Given the description of an element on the screen output the (x, y) to click on. 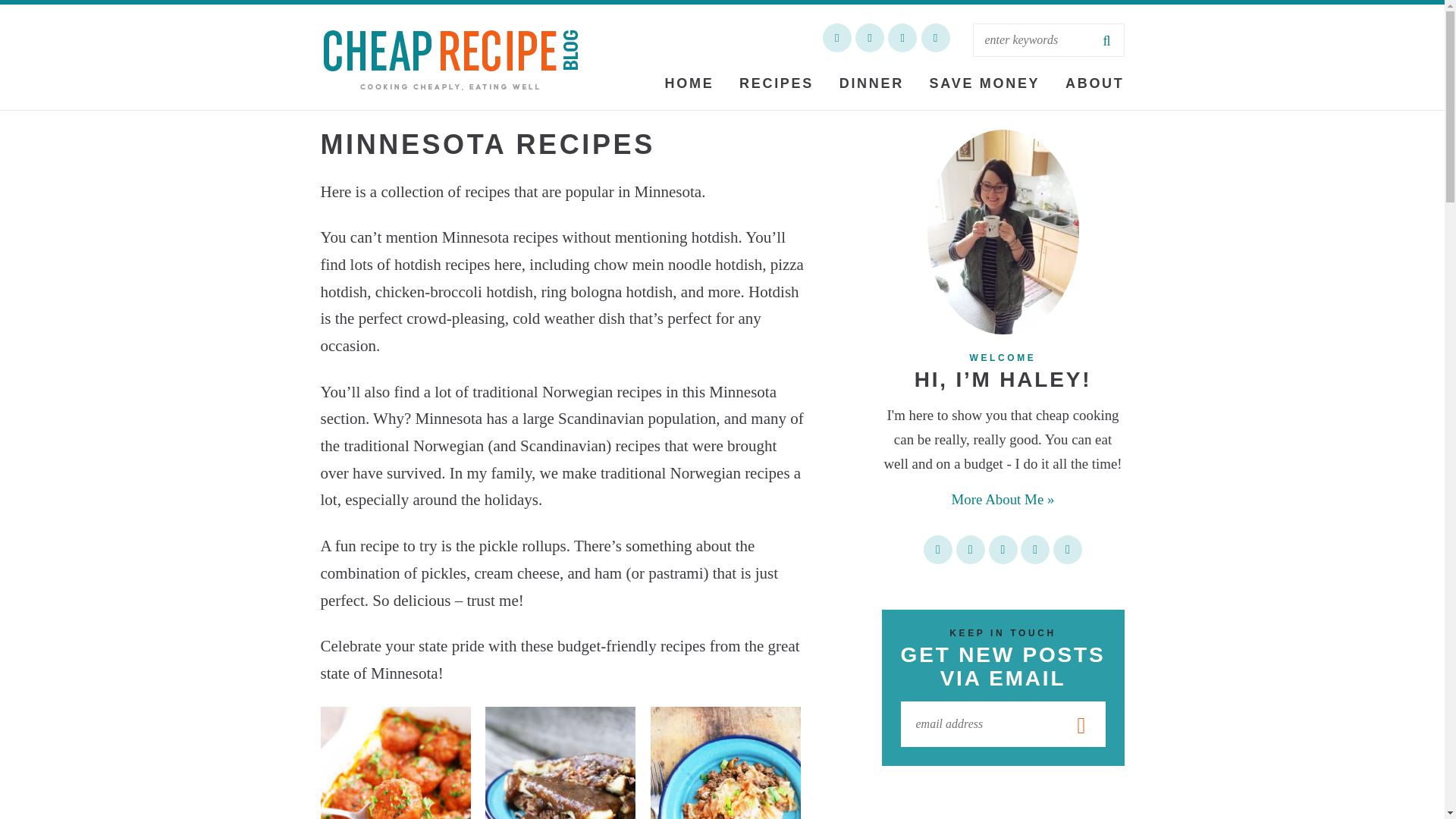
Facebook (869, 37)
Cheap Recipe Blog (449, 58)
DINNER (871, 83)
SAVE MONEY (984, 83)
Cabbage And Ground Beef Casserole (725, 762)
HOME (689, 83)
Twitter (836, 37)
Instagram (934, 37)
Pinterest (902, 37)
RECIPES (776, 83)
